Given the description of an element on the screen output the (x, y) to click on. 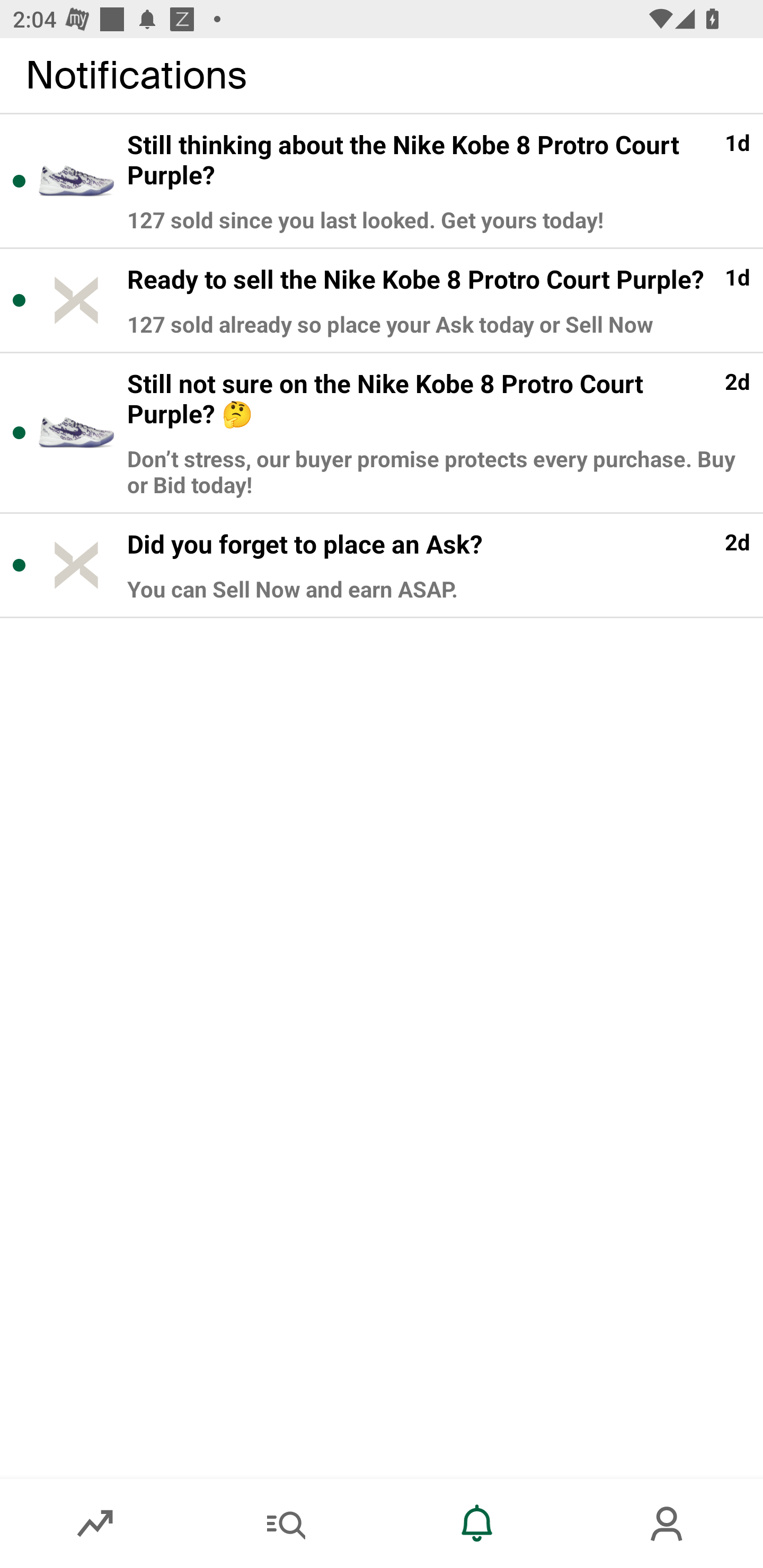
Market (95, 1523)
Search (285, 1523)
Account (667, 1523)
